Given the description of an element on the screen output the (x, y) to click on. 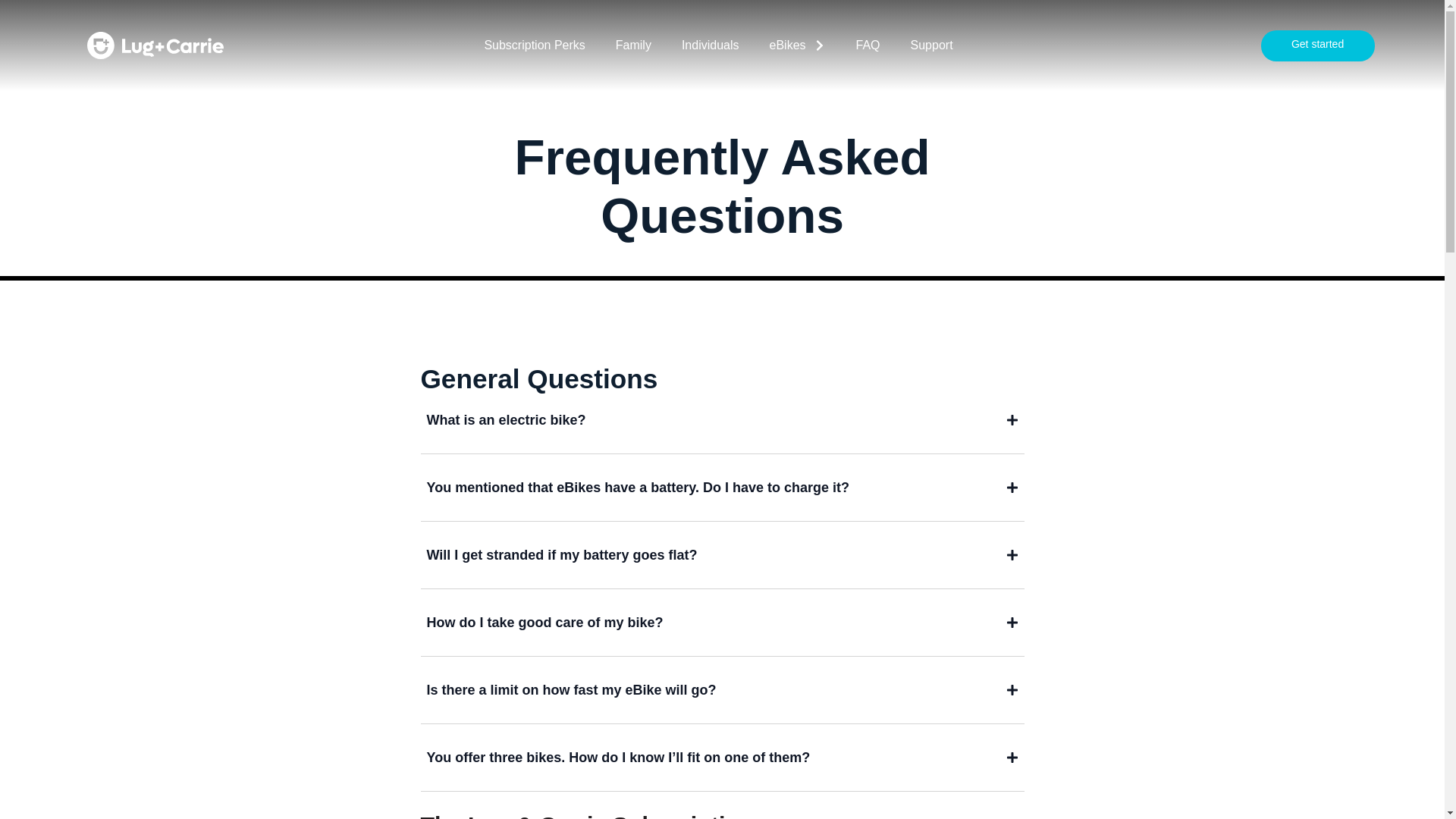
FAQ (868, 45)
eBikes (797, 45)
Family (632, 45)
Support (931, 45)
Individuals (710, 45)
Get started (1317, 45)
Subscription Perks (533, 45)
